Given the description of an element on the screen output the (x, y) to click on. 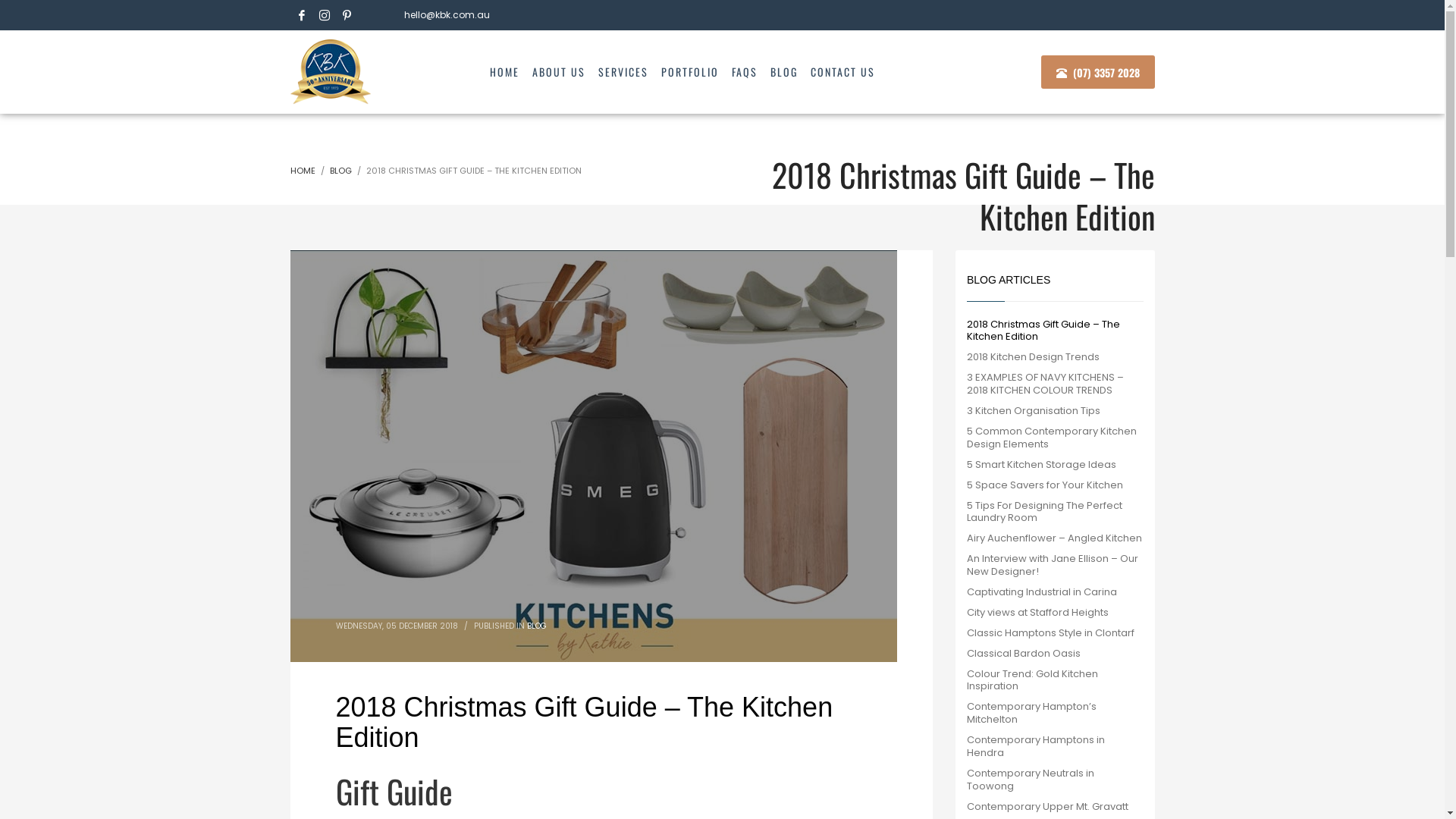
3 Kitchen Organisation Tips Element type: text (1054, 411)
5 Smart Kitchen Storage Ideas Element type: text (1054, 465)
Colour Trend: Gold Kitchen Inspiration Element type: text (1054, 680)
BLOG Element type: text (536, 625)
HOME Element type: text (301, 170)
Facebook Element type: hover (300, 14)
Contemporary Hamptons in Hendra Element type: text (1054, 746)
(07) 3357 2028 Element type: text (1097, 71)
Modern Kitchen Designs in Brisbane Element type: hover (329, 71)
BLOG Element type: text (340, 170)
Captivating Industrial in Carina Element type: text (1054, 592)
FAQS Element type: text (744, 71)
Instagram Element type: hover (323, 14)
5 Space Savers for Your Kitchen Element type: text (1054, 485)
2018 Kitchen Design Trends Element type: text (1054, 357)
5 Tips For Designing The Perfect Laundry Room Element type: text (1054, 512)
ABOUT US Element type: text (558, 71)
BLOG Element type: text (783, 71)
xmas-2018 Element type: hover (592, 456)
Pintarest Element type: hover (346, 14)
City views at Stafford Heights Element type: text (1054, 612)
Contemporary Upper Mt. Gravatt Element type: text (1054, 807)
SERVICES Element type: text (622, 71)
CONTACT US Element type: text (842, 71)
5 Common Contemporary Kitchen Design Elements Element type: text (1054, 438)
Contemporary Neutrals in Toowong Element type: text (1054, 780)
Classical Bardon Oasis Element type: text (1054, 653)
Classic Hamptons Style in Clontarf Element type: text (1054, 633)
HOME Element type: text (504, 71)
PORTFOLIO Element type: text (689, 71)
